Given the description of an element on the screen output the (x, y) to click on. 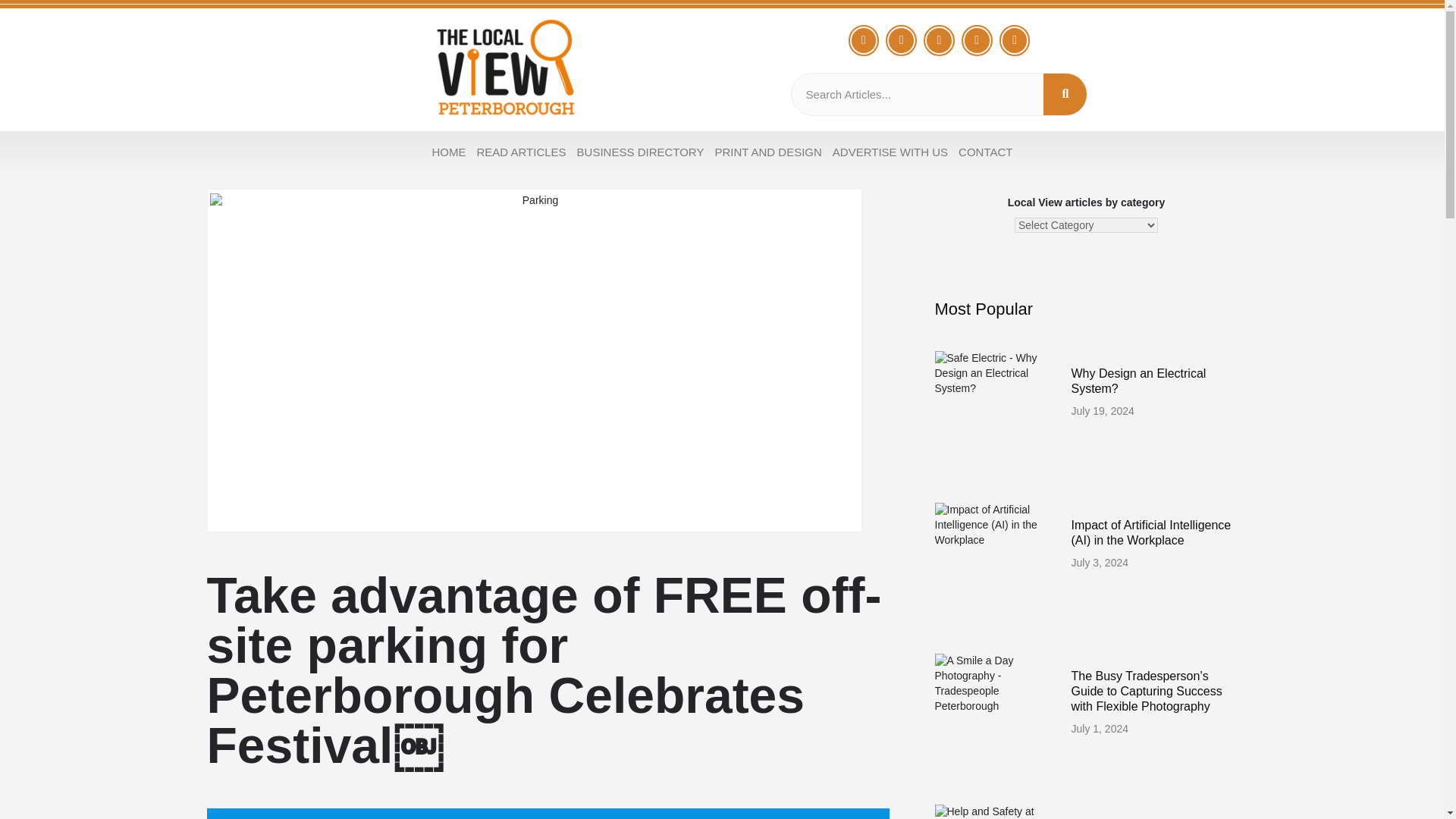
PRINT AND DESIGN (768, 152)
CONTACT (985, 152)
ADVERTISE WITH US (890, 152)
Why Design an Electrical System? (1137, 380)
READ ARTICLES (521, 152)
BUSINESS DIRECTORY (641, 152)
HOME (448, 152)
